Given the description of an element on the screen output the (x, y) to click on. 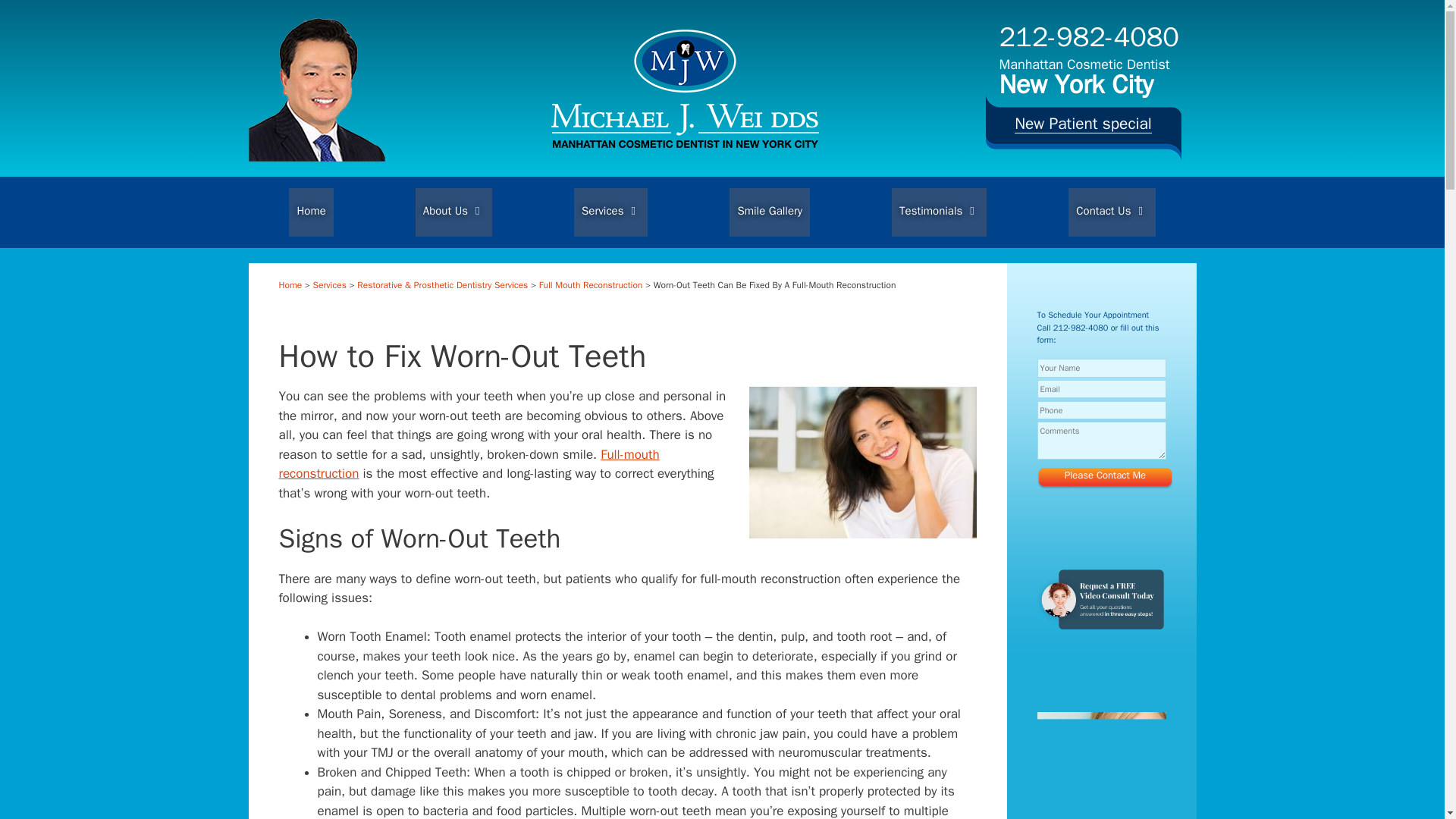
Services (610, 212)
Go to Services. (329, 285)
New Patient special (1082, 127)
Please Contact Me (1104, 474)
Michael J. Wei DDS PC (684, 142)
Home (310, 212)
Go to Michael J. Wei DDS PC. (290, 285)
Go to Full Mouth Reconstruction. (590, 285)
About Us (453, 212)
